Given the description of an element on the screen output the (x, y) to click on. 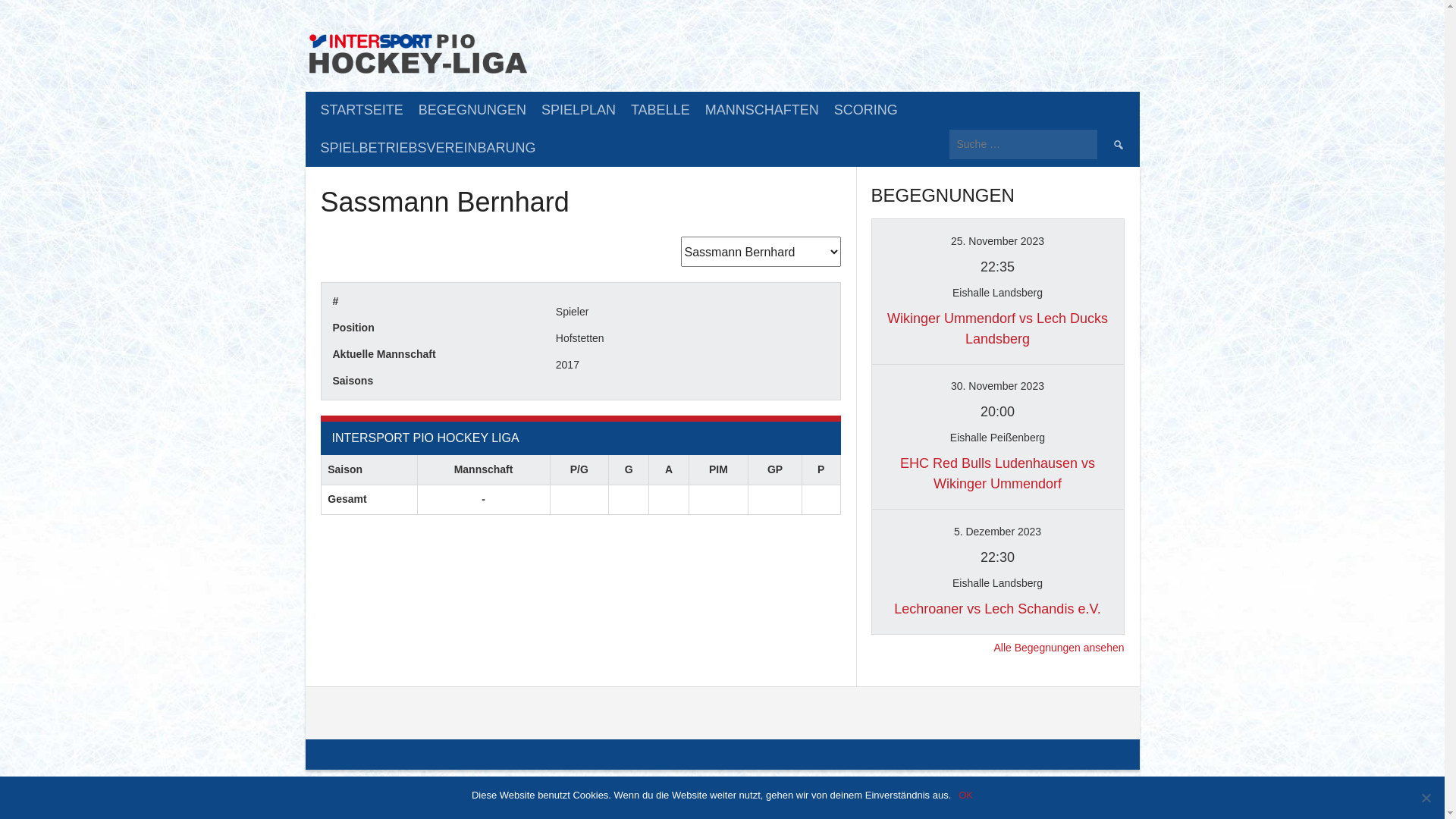
Wikinger Ummendorf Element type: hover (1085, 399)
MANNSCHAFTEN Element type: text (761, 110)
ENTWORFEN VON THEMEBOY Element type: text (1077, 779)
Wikinger Ummendorf Element type: hover (909, 254)
EHC Red Bulls Ludenhausen Element type: hover (909, 399)
Nein Element type: hover (1425, 797)
EHC Red Bulls Ludenhausen vs Wikinger Ummendorf Element type: text (997, 473)
Wikinger Ummendorf vs Lech Ducks Landsberg Element type: text (997, 328)
Lechroaner vs Lech Schandis e.V. Element type: text (997, 608)
Alle Begegnungen ansehen Element type: text (1058, 647)
30. November 2023 Element type: text (997, 385)
TABELLE Element type: text (660, 110)
IMPRESSUM / DATENSCHUTZ Element type: text (947, 779)
Lech Ducks Landsberg Element type: hover (1085, 254)
STARTSEITE Element type: text (361, 110)
5. Dezember 2023 Element type: text (997, 531)
22:35 Element type: text (997, 266)
25. November 2023 Element type: text (997, 241)
Lech Schandis e.V. Element type: hover (1085, 545)
Suche Element type: hover (1117, 144)
Lechroaner Element type: hover (909, 545)
OK Element type: text (965, 795)
22:30 Element type: text (997, 556)
20:00 Element type: text (997, 411)
SPIELBETRIEBSVEREINBARUNG Element type: text (427, 148)
SCORING Element type: text (865, 110)
SPIELPLAN Element type: text (578, 110)
BEGEGNUNGEN Element type: text (472, 110)
